Given the description of an element on the screen output the (x, y) to click on. 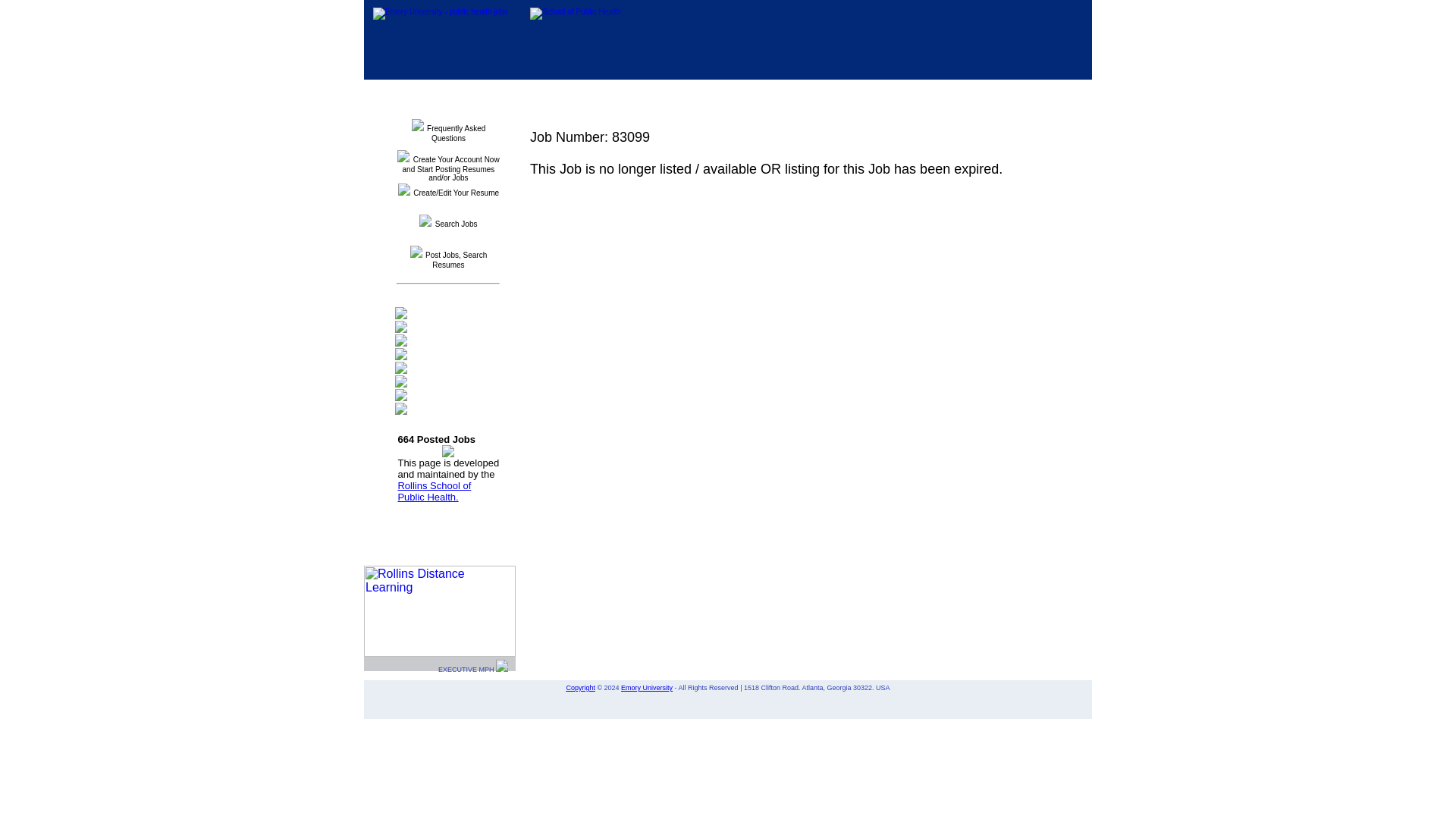
Copyright (580, 687)
EXECUTIVE MPH (473, 669)
Rollins School of Public Health. (433, 490)
Emory University (646, 687)
